Given the description of an element on the screen output the (x, y) to click on. 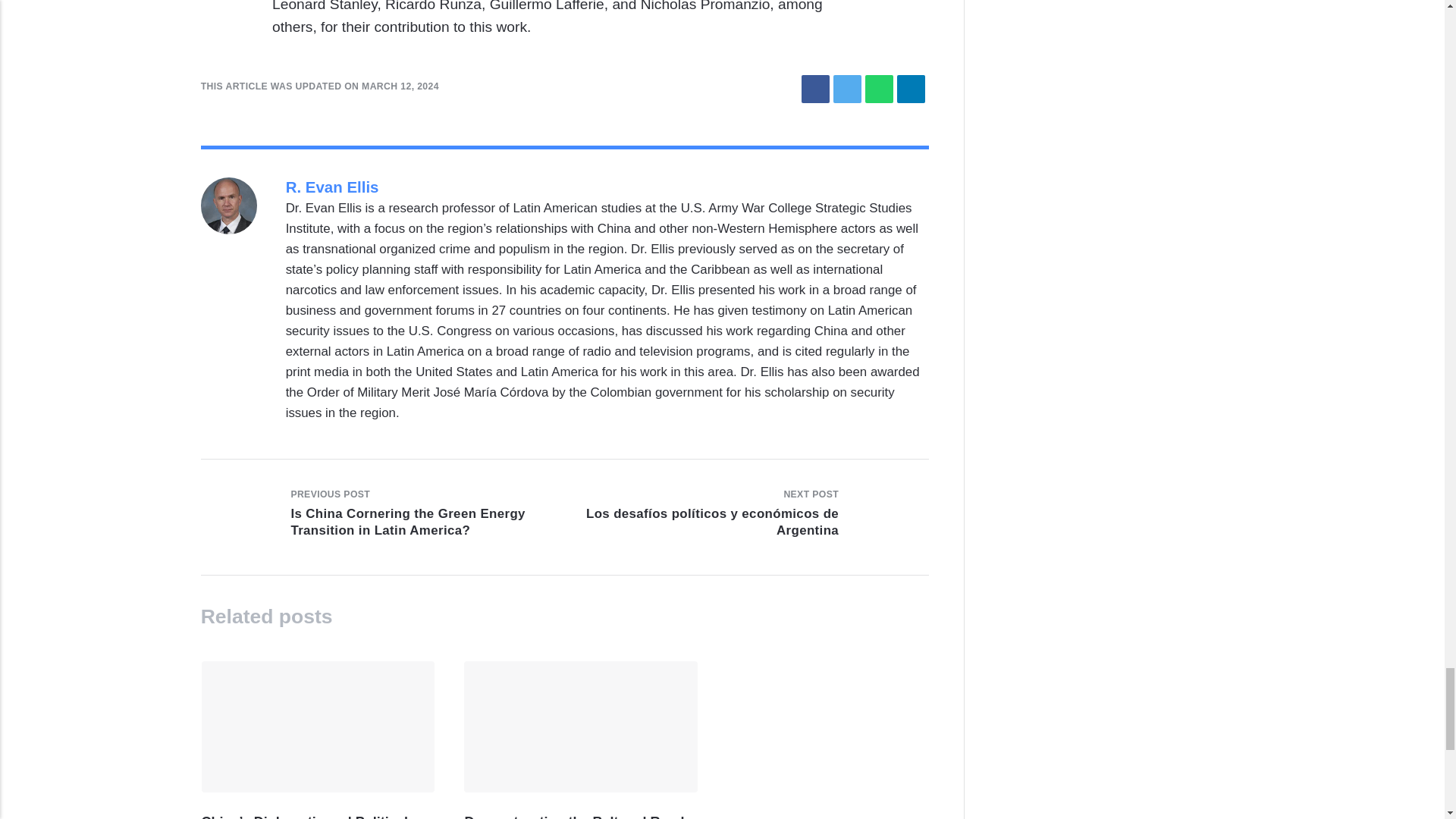
Share with Twitter (846, 89)
Share with LinkedIn (910, 89)
Share with Facebook (815, 89)
Share with WhatsApp (878, 89)
R. Evan Ellis (331, 186)
